Given the description of an element on the screen output the (x, y) to click on. 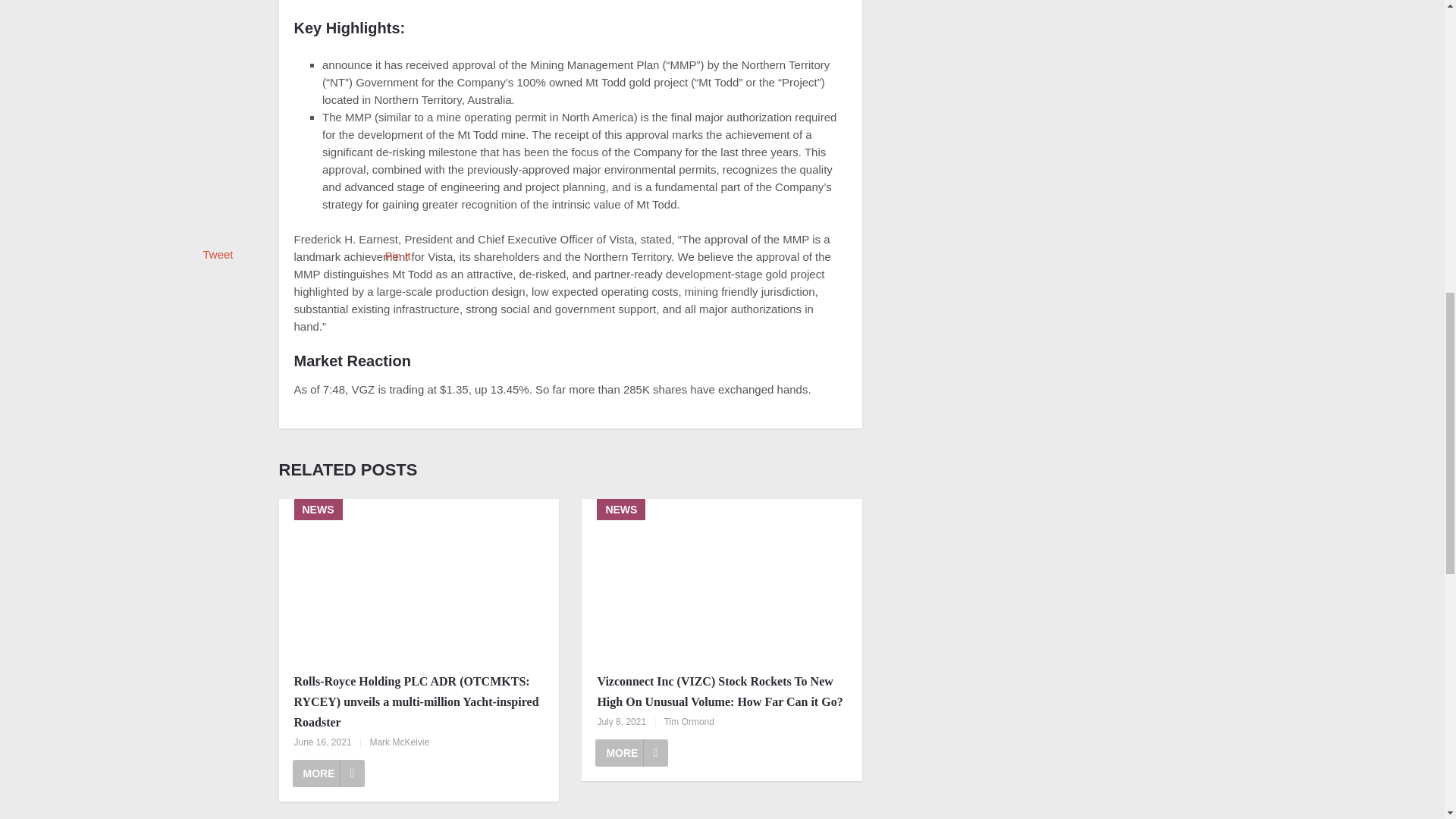
NEWS (720, 579)
NEWS (419, 579)
Posts by Mark McKelvie (399, 742)
Mark McKelvie (399, 742)
Posts by Tim Ormond (688, 721)
MORE (631, 752)
Tim Ormond (688, 721)
MORE (328, 773)
